Given the description of an element on the screen output the (x, y) to click on. 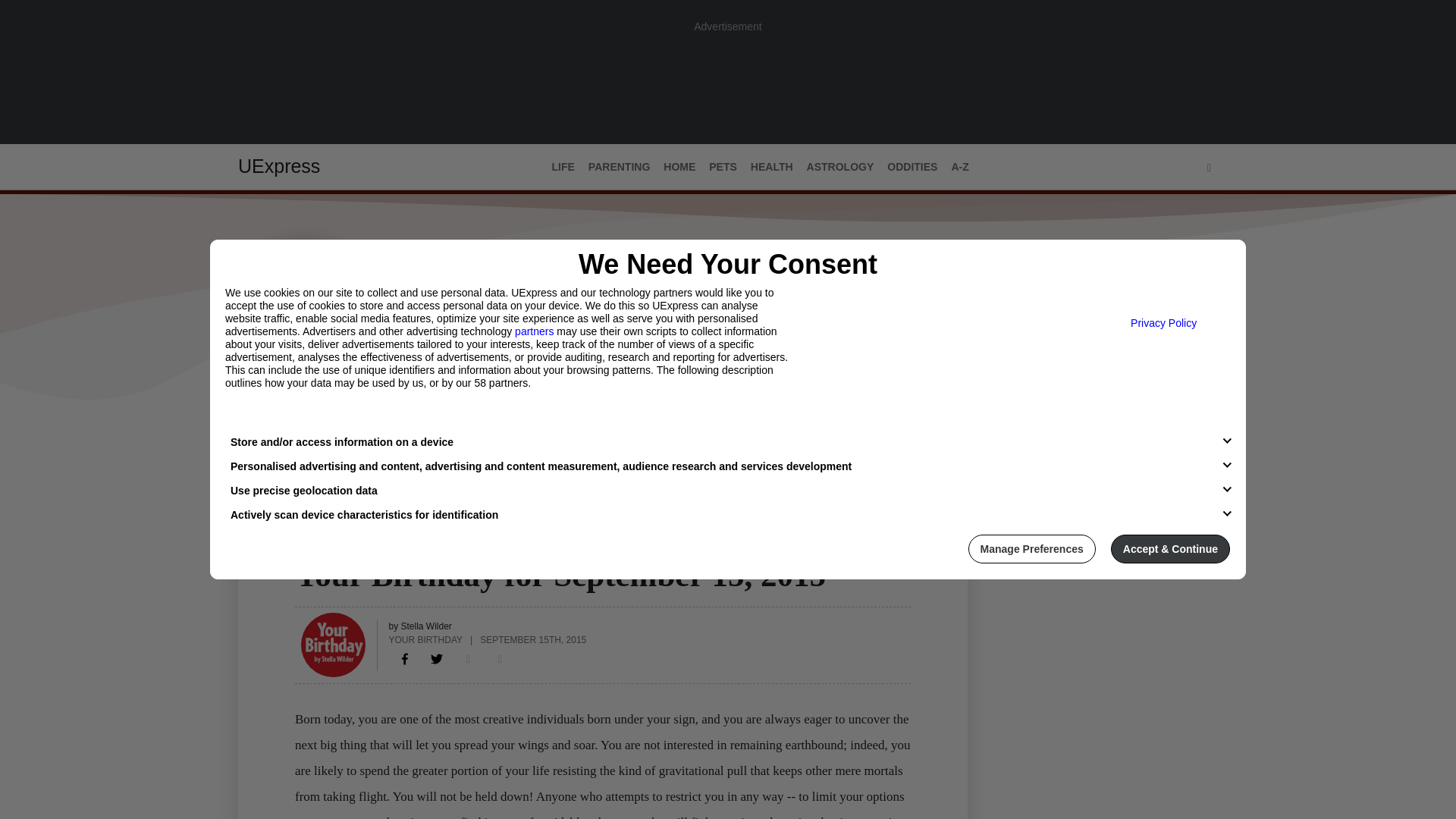
HOME (678, 166)
YOUR BIRTHDAY (425, 639)
About (309, 431)
Your Birthday for September 15, 2015 (404, 658)
ODDITIES (911, 166)
ASTROLOGY (328, 545)
PARENTING (618, 166)
HEALTH (771, 166)
Archives (371, 431)
UExpress (279, 166)
Latest (256, 431)
PETS (722, 166)
ASTROLOGY (839, 166)
A-Z (959, 166)
LIFE (562, 166)
